Given the description of an element on the screen output the (x, y) to click on. 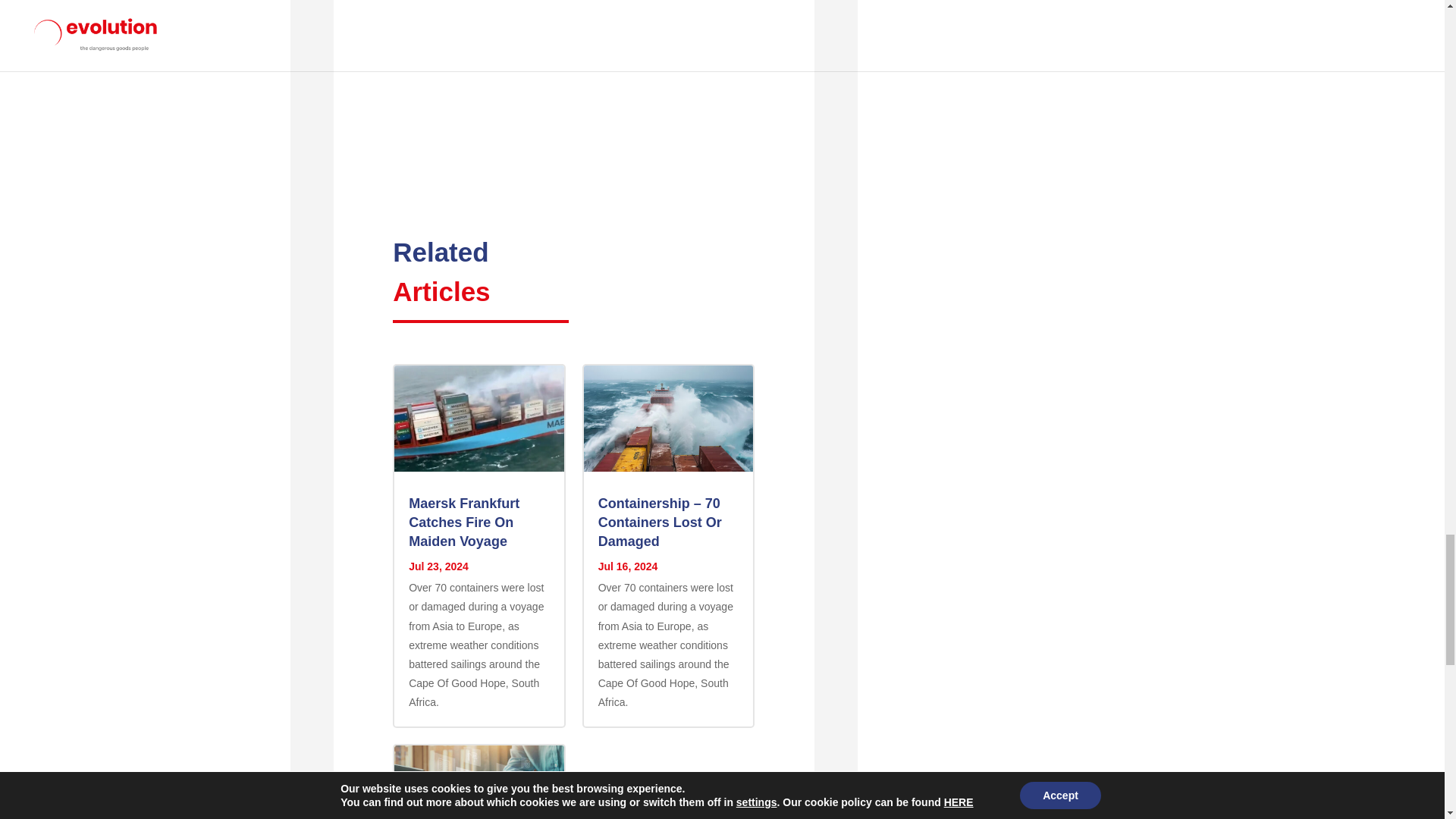
Maersk Frankfurt Catches Fire On Maiden Voyage (464, 522)
